Given the description of an element on the screen output the (x, y) to click on. 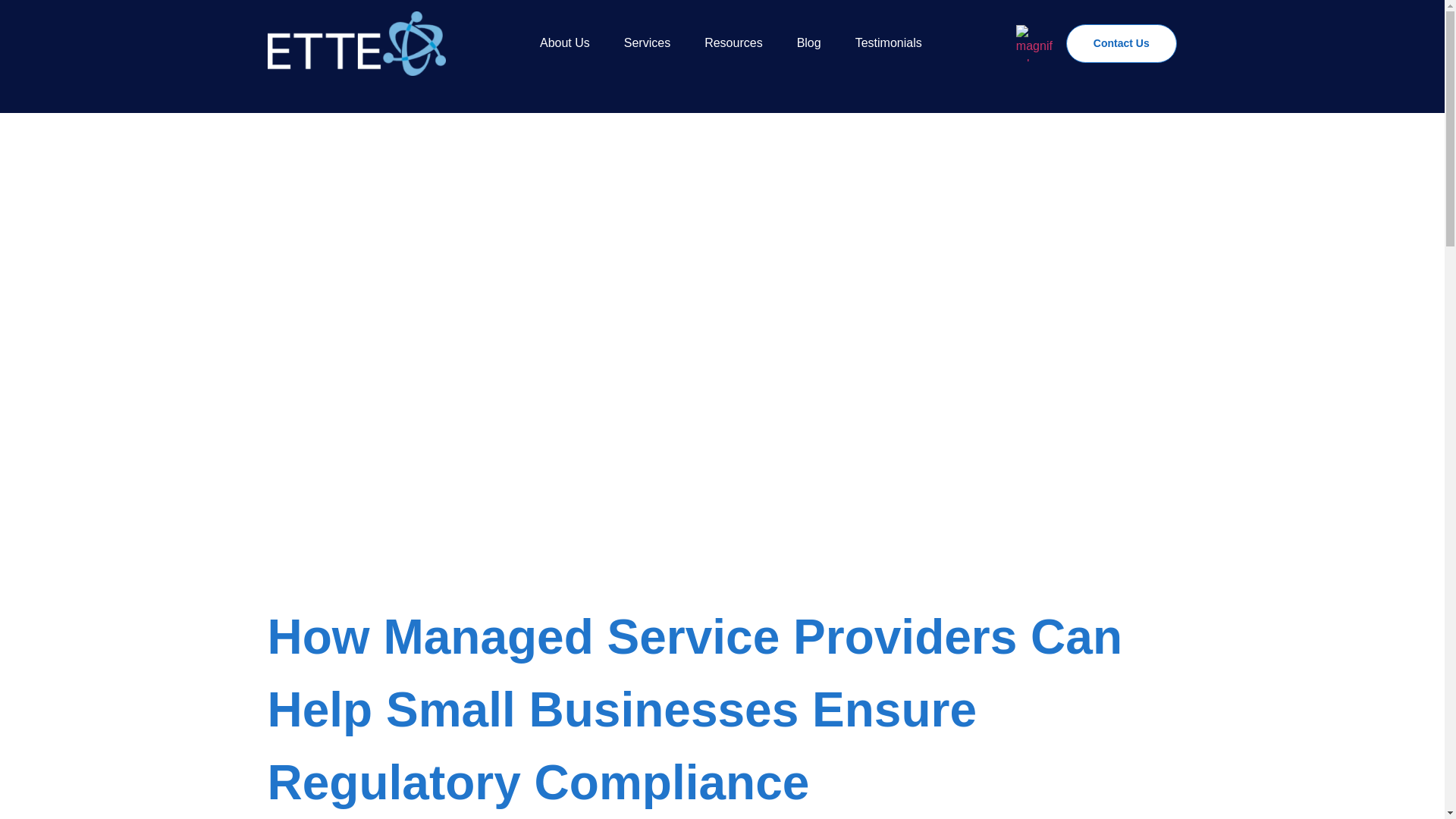
About Us (564, 43)
Services (646, 43)
Testimonials (888, 43)
Resources (732, 43)
Blog (808, 43)
